Given the description of an element on the screen output the (x, y) to click on. 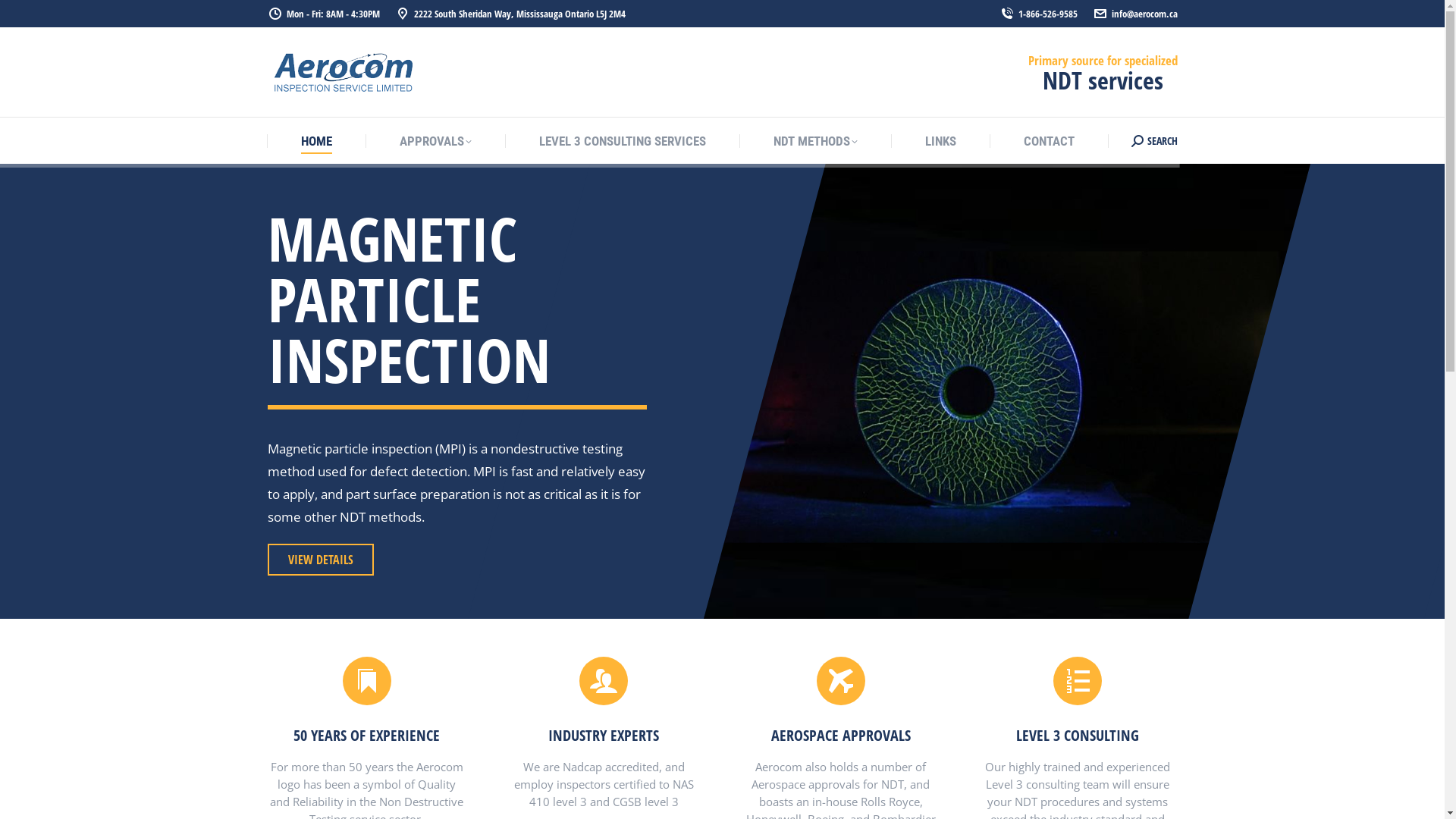
NDT METHODS Element type: text (815, 141)
LEVEL 3 CONSULTING SERVICES Element type: text (622, 141)
Go! Element type: text (23, 15)
APPROVALS Element type: text (435, 141)
CONTACT Element type: text (1048, 141)
LINKS Element type: text (940, 141)
HOME Element type: text (316, 141)
VIEW DETAILS Element type: text (319, 559)
SEARCH Element type: text (1154, 140)
